Given the description of an element on the screen output the (x, y) to click on. 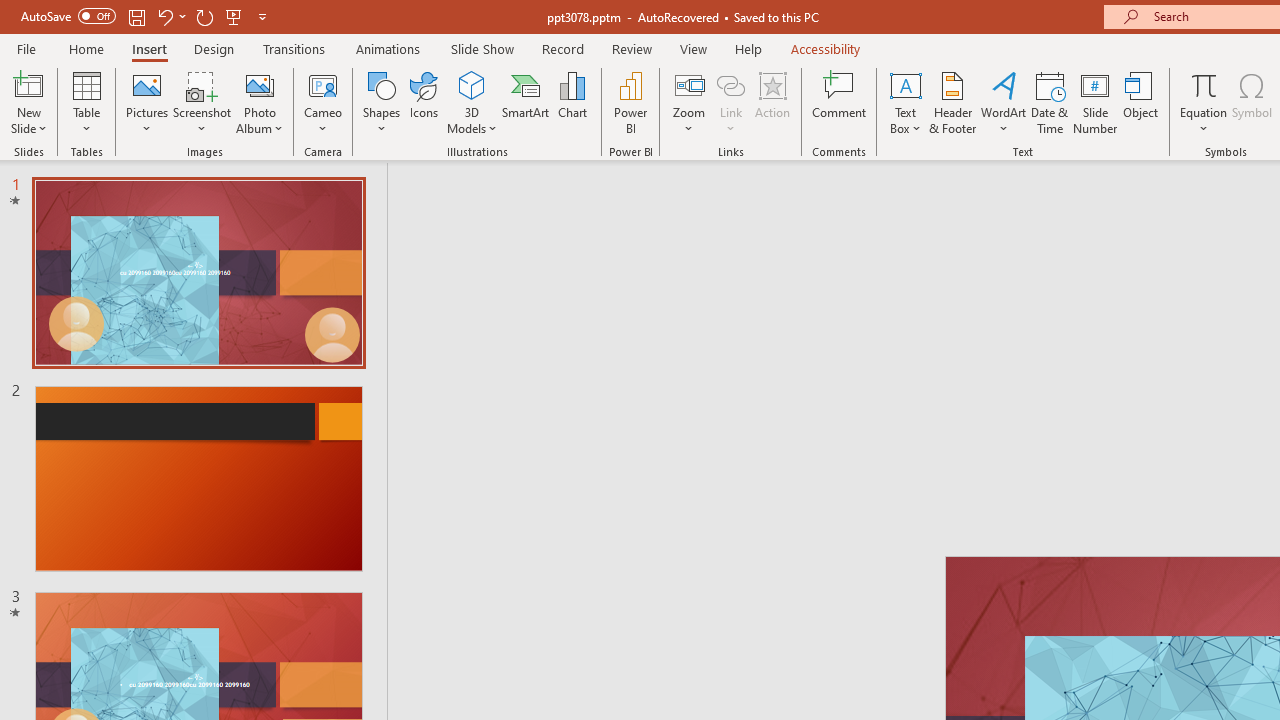
New Photo Album... (259, 84)
SmartArt... (525, 102)
Link (731, 84)
